Given the description of an element on the screen output the (x, y) to click on. 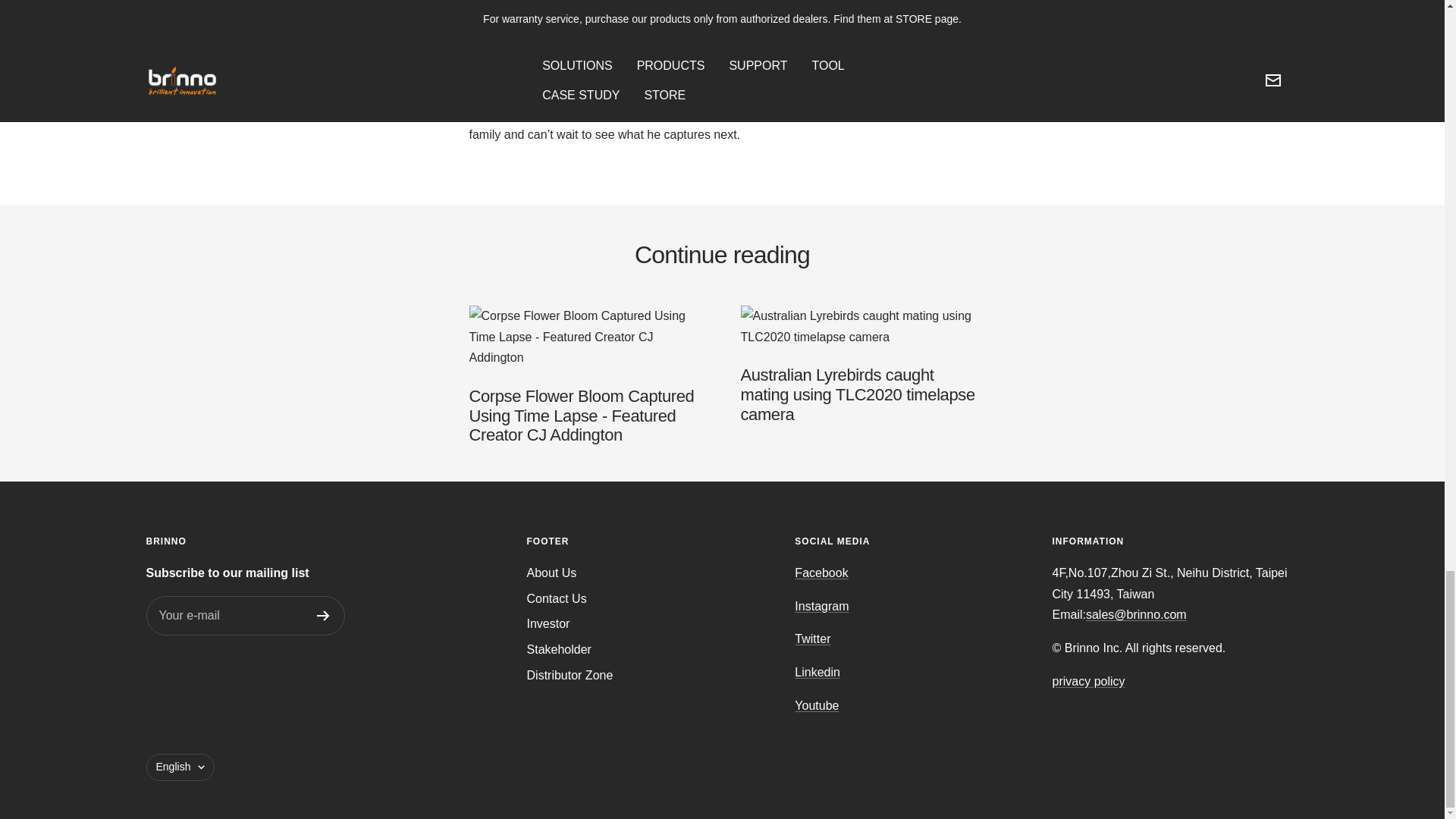
Register (323, 615)
privacy policy (1088, 680)
